Given the description of an element on the screen output the (x, y) to click on. 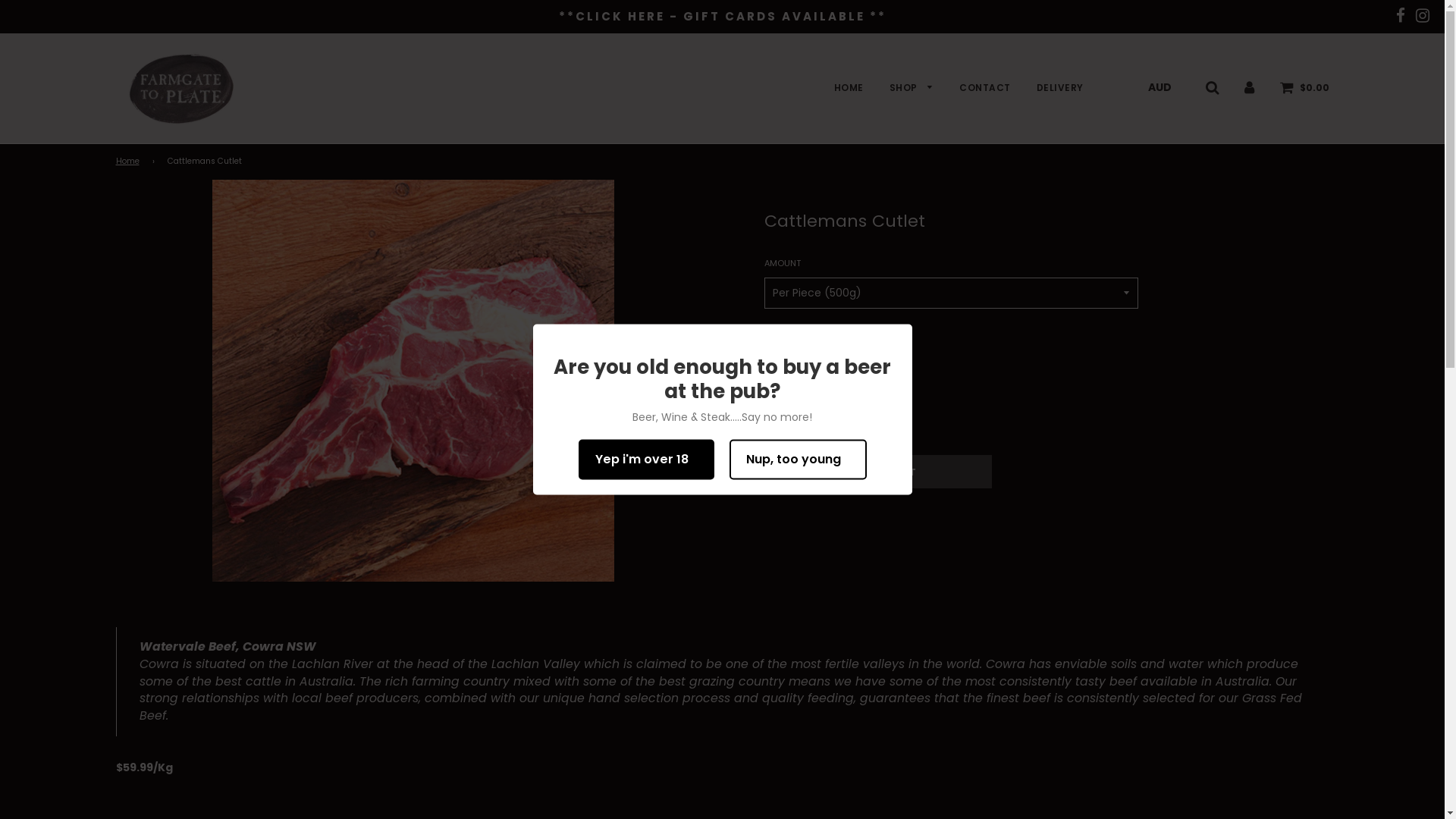
HOME Element type: text (848, 87)
Log in Element type: hover (1248, 86)
ADD TO CART Element type: text (877, 471)
DELIVERY Element type: text (1054, 87)
**CLICK HERE - GIFT CARDS AVAILABLE ** Element type: text (722, 16)
CONTACT Element type: text (984, 87)
$0.00 Element type: text (1304, 86)
+ Element type: text (825, 363)
SHOP Element type: text (911, 88)
Home Element type: text (129, 161)
